Given the description of an element on the screen output the (x, y) to click on. 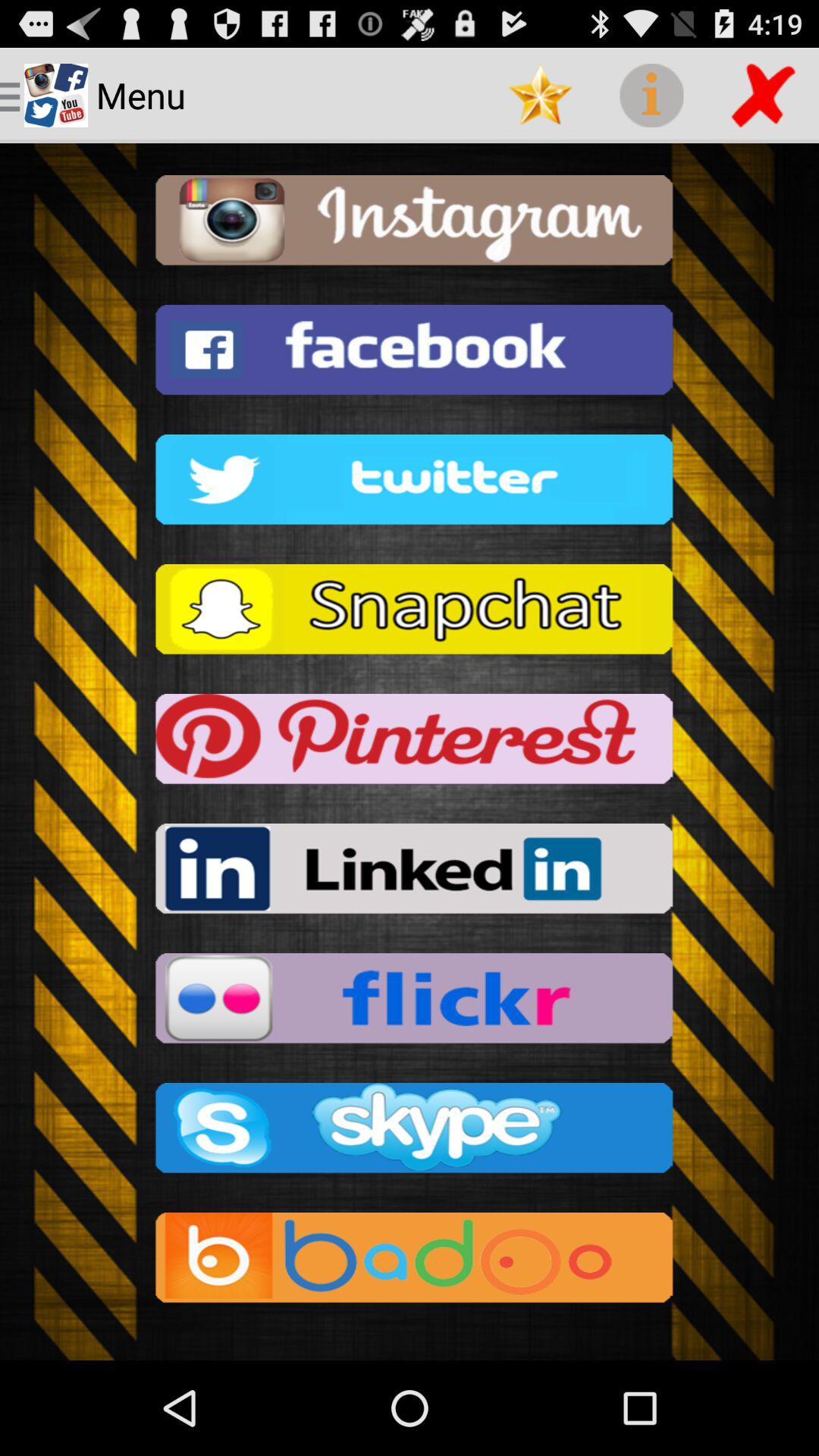
select snapchat (409, 613)
